Given the description of an element on the screen output the (x, y) to click on. 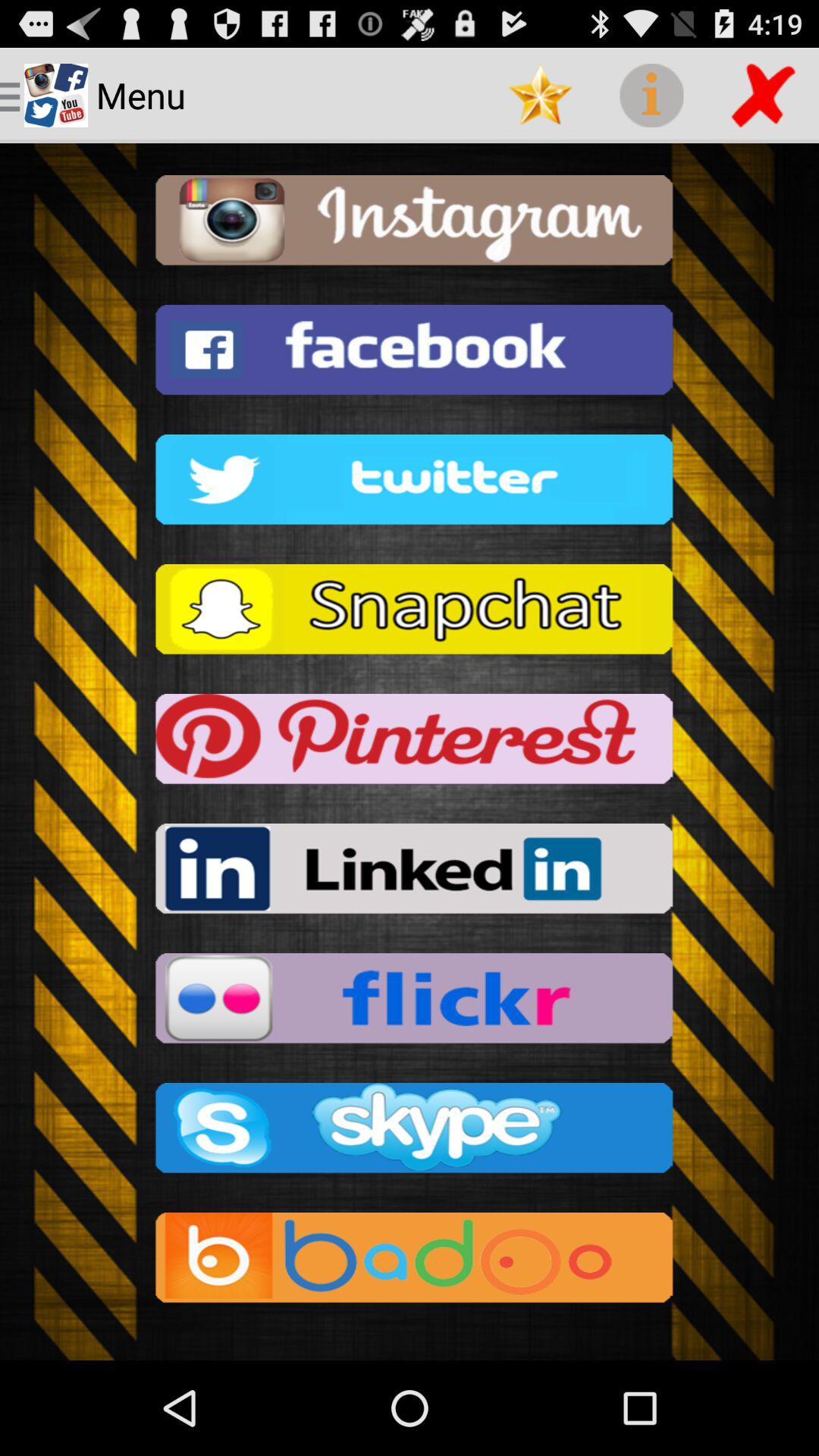
select snapchat (409, 613)
